Given the description of an element on the screen output the (x, y) to click on. 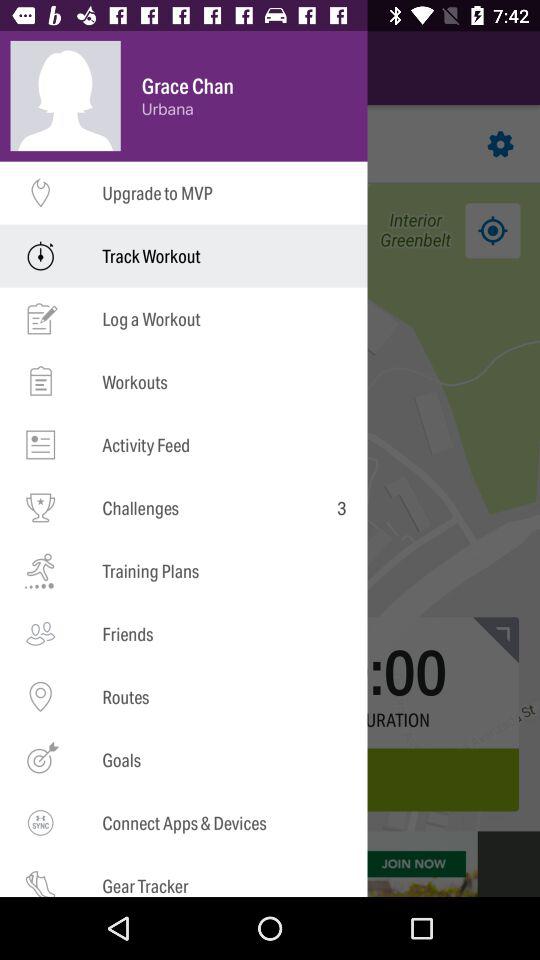
click the symbol beside training plans (40, 571)
click on the icon on left side of text connect apps  devices (40, 822)
click on setting (501, 144)
